Given the description of an element on the screen output the (x, y) to click on. 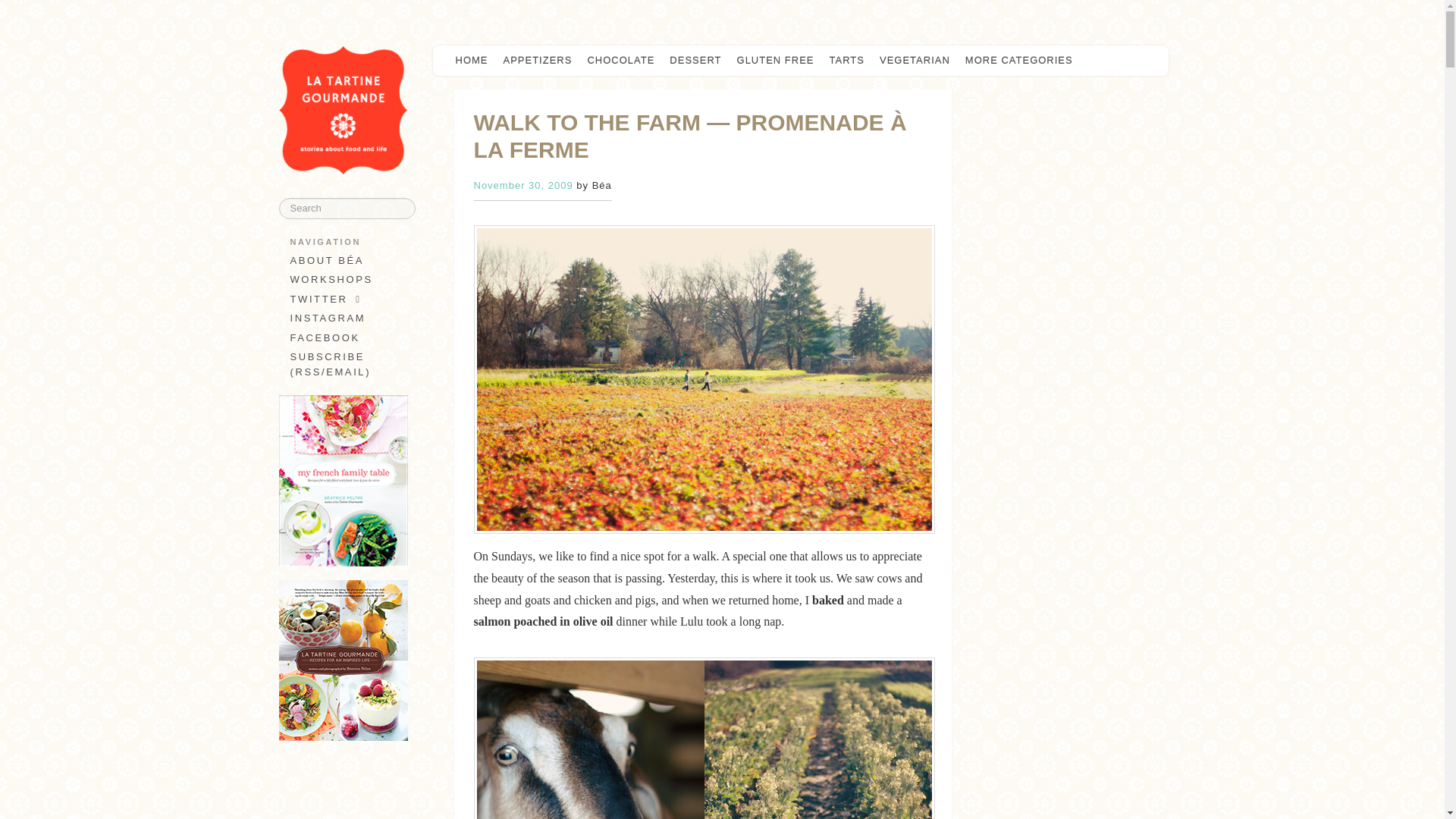
TARTS (847, 60)
Advertisement (343, 793)
WORKSHOPS (343, 279)
APPETIZERS (537, 60)
GLUTEN FREE (775, 60)
MORE CATEGORIES (1022, 60)
TWITTER (343, 299)
INSTAGRAM (343, 318)
November 30, 2009 (522, 184)
DESSERT (695, 60)
2:34 pm (522, 184)
VEGETARIAN (915, 60)
HOME (470, 60)
FACEBOOK (343, 338)
CHOCOLATE (620, 60)
